Given the description of an element on the screen output the (x, y) to click on. 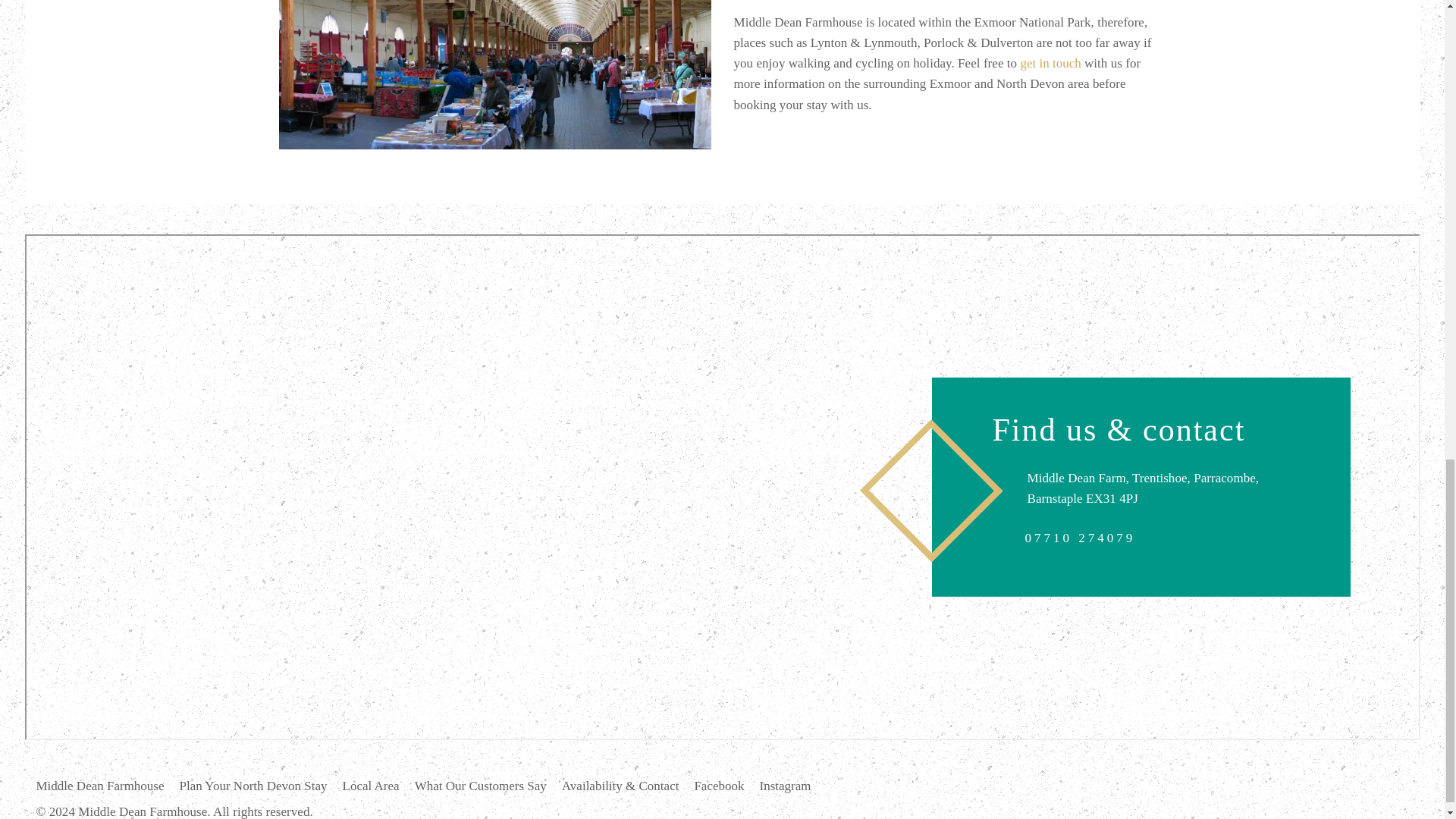
Middle Dean Farmhouse (107, 785)
get in touch (1050, 63)
Instagram (793, 785)
Plan Your North Devon Stay (260, 785)
Local Area (378, 785)
What Our Customers Say (488, 785)
Facebook (726, 785)
07710 274079 (1080, 536)
